Given the description of an element on the screen output the (x, y) to click on. 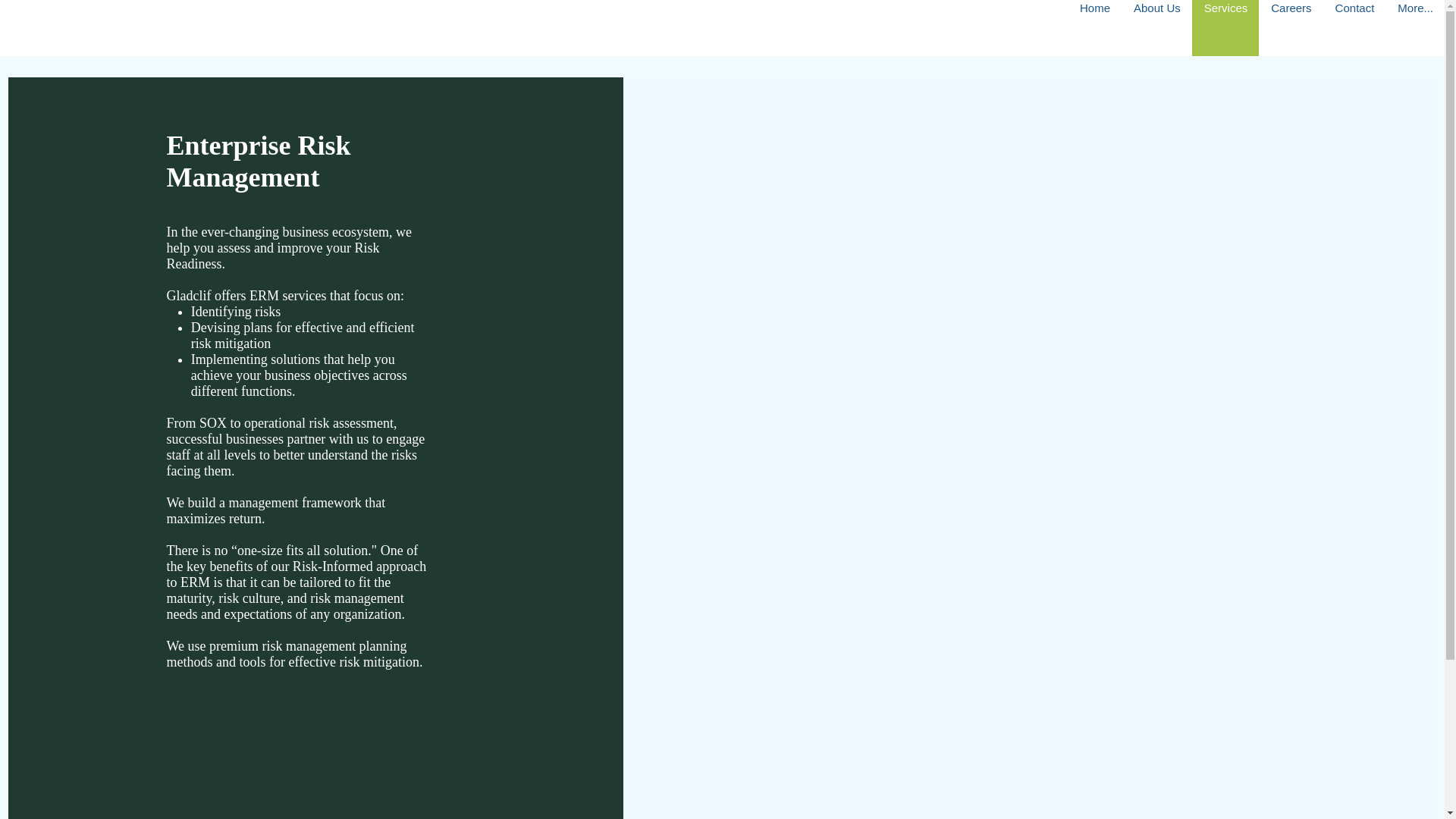
Biz cards logo - Square Gladclif with Tree.JPG (378, 28)
Services (1225, 28)
Contact (1354, 28)
About Us (1156, 28)
Careers (1290, 28)
Home (1094, 28)
